Given the description of an element on the screen output the (x, y) to click on. 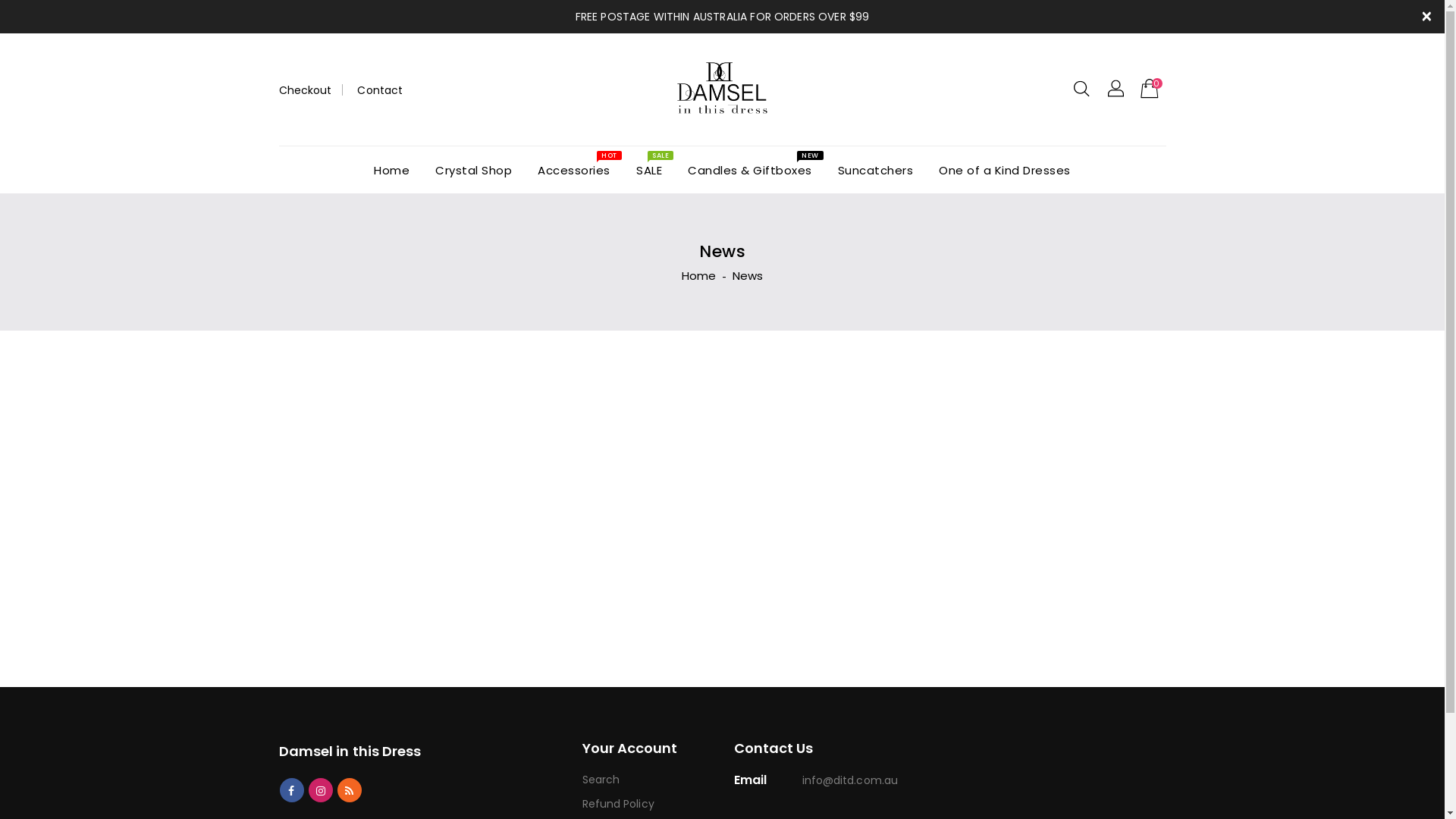
Damsel in this Dress Element type: text (350, 751)
One of a Kind Dresses Element type: text (1004, 170)
Contact Element type: text (373, 89)
Home Element type: text (698, 275)
Damsel in this Dress on Facebook Element type: hover (291, 789)
Suncatchers Element type: text (875, 170)
Home Element type: text (391, 170)
SALE
SALE Element type: text (648, 170)
info@ditd.com.au Element type: text (850, 780)
Checkout Element type: text (304, 89)
Search Element type: text (646, 779)
Damsel in this Dress on Instagram Element type: hover (320, 789)
Accessories
HOT Element type: text (573, 170)
Refund Policy Element type: text (646, 803)
Crystal Shop Element type: text (473, 170)
Candles & Giftboxes
NEW Element type: text (749, 170)
